Given the description of an element on the screen output the (x, y) to click on. 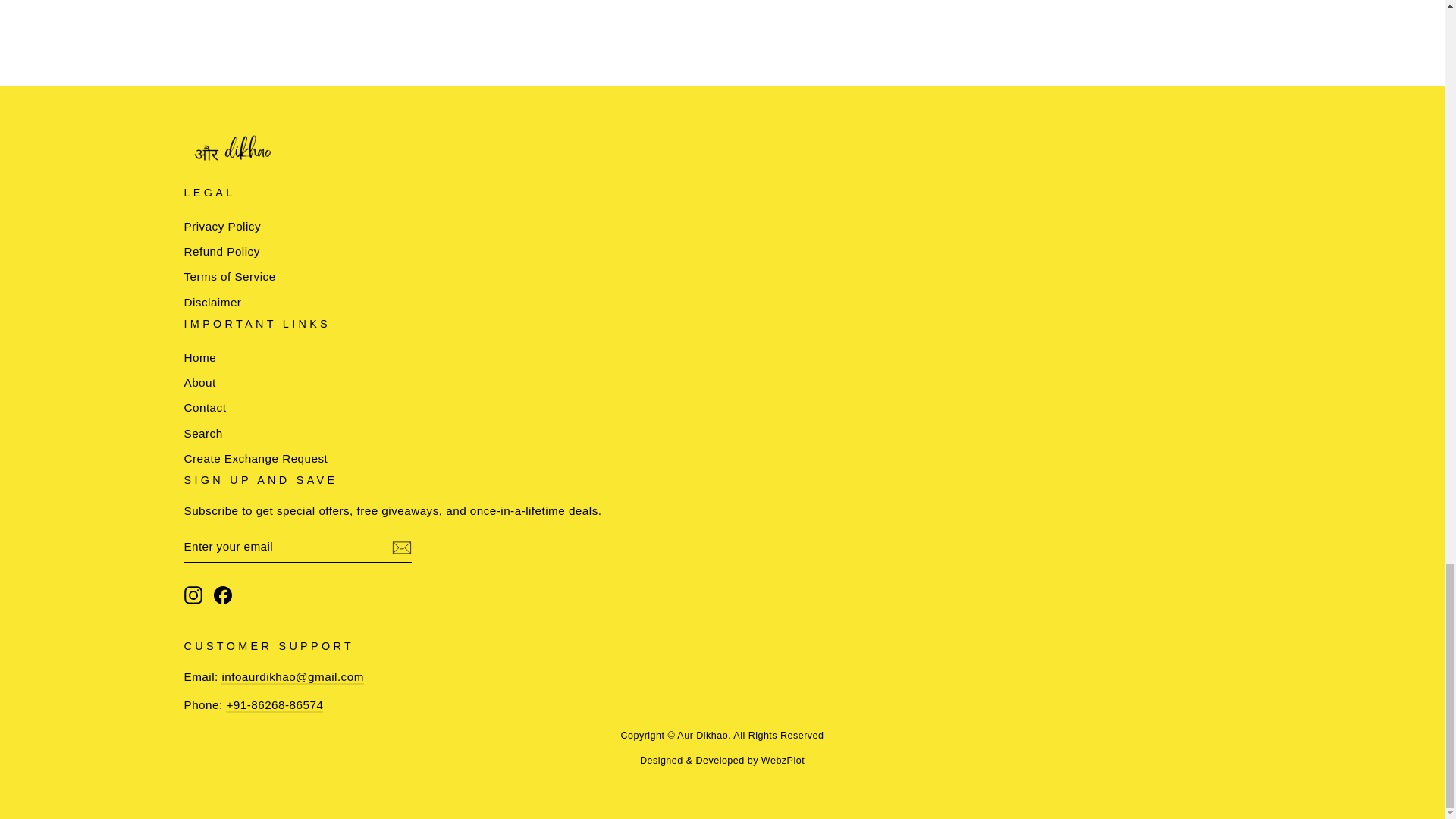
Aur Dikhao. on Instagram (192, 595)
Aur Dikhao. on Facebook (222, 595)
